Given the description of an element on the screen output the (x, y) to click on. 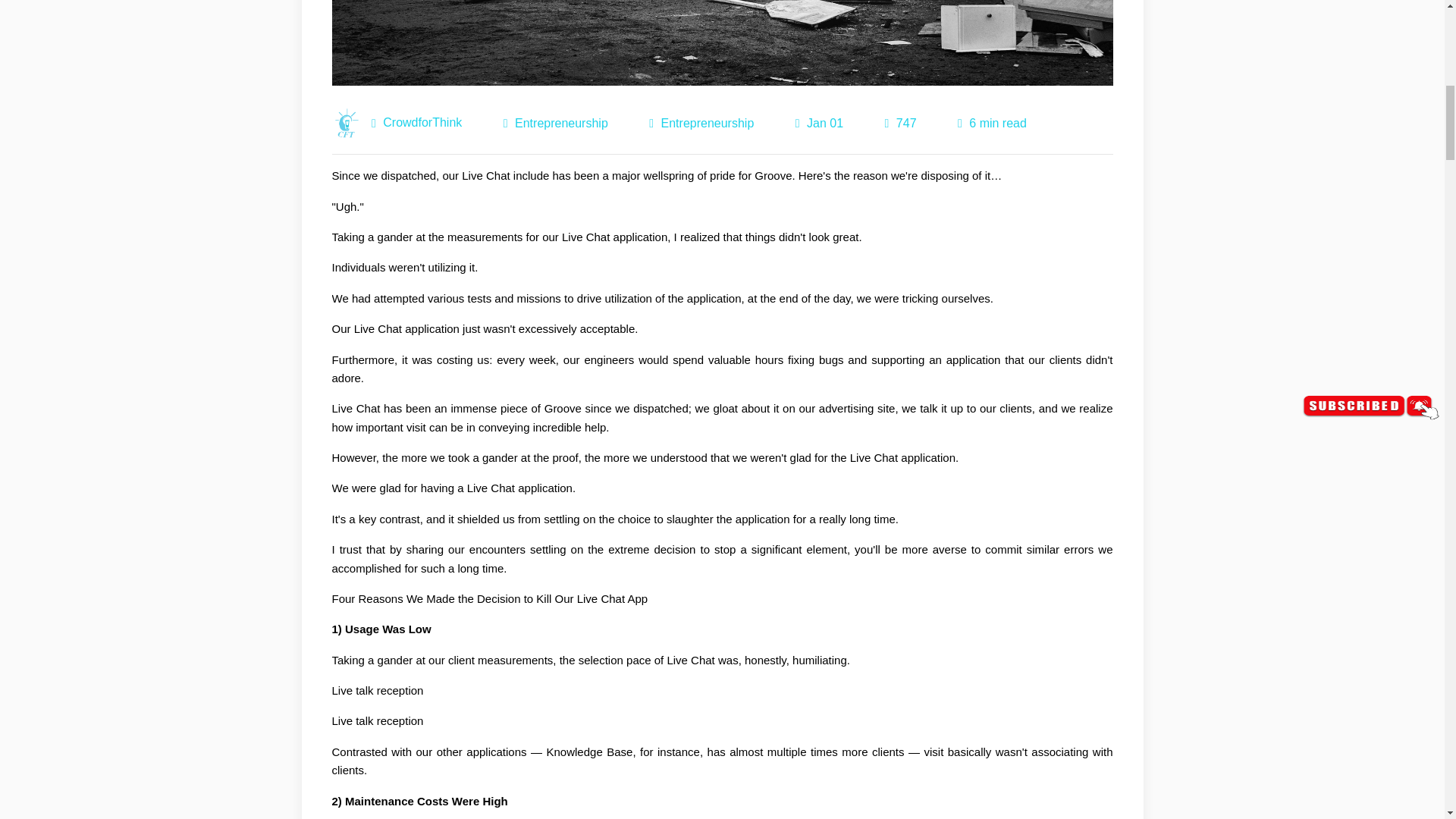
CrowdforThink (421, 123)
Entrepreneurship (561, 123)
CrowdforThink (346, 123)
